Given the description of an element on the screen output the (x, y) to click on. 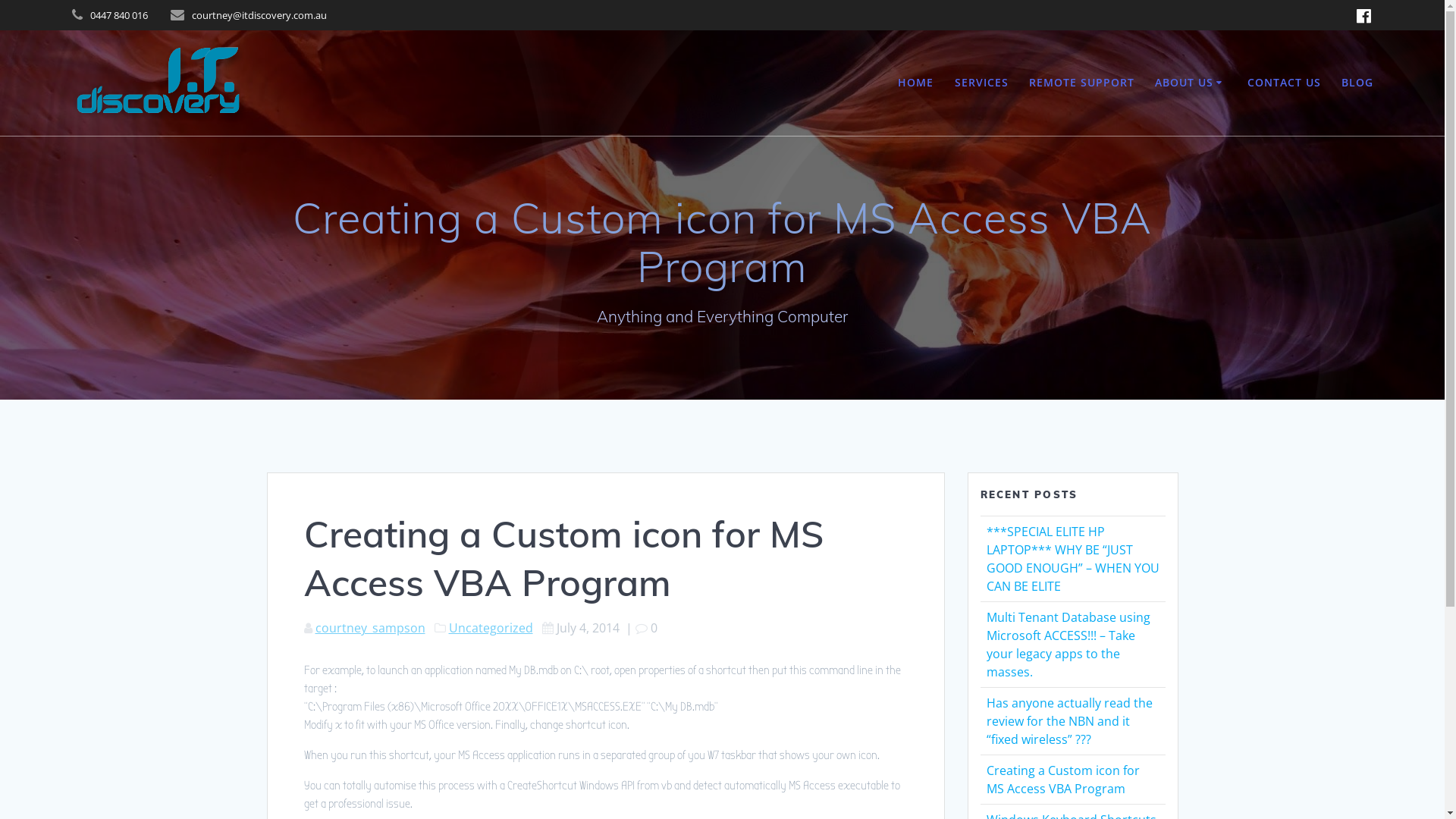
Uncategorized Element type: text (490, 627)
CONTACT US Element type: text (1284, 82)
ABOUT US Element type: text (1190, 82)
Creating a Custom icon for MS Access VBA Program Element type: text (1062, 779)
courtney_sampson Element type: text (370, 627)
Skip to content Element type: text (0, 0)
SERVICES Element type: text (981, 82)
HOME Element type: text (915, 82)
REMOTE SUPPORT Element type: text (1081, 82)
BLOG Element type: text (1357, 82)
